Given the description of an element on the screen output the (x, y) to click on. 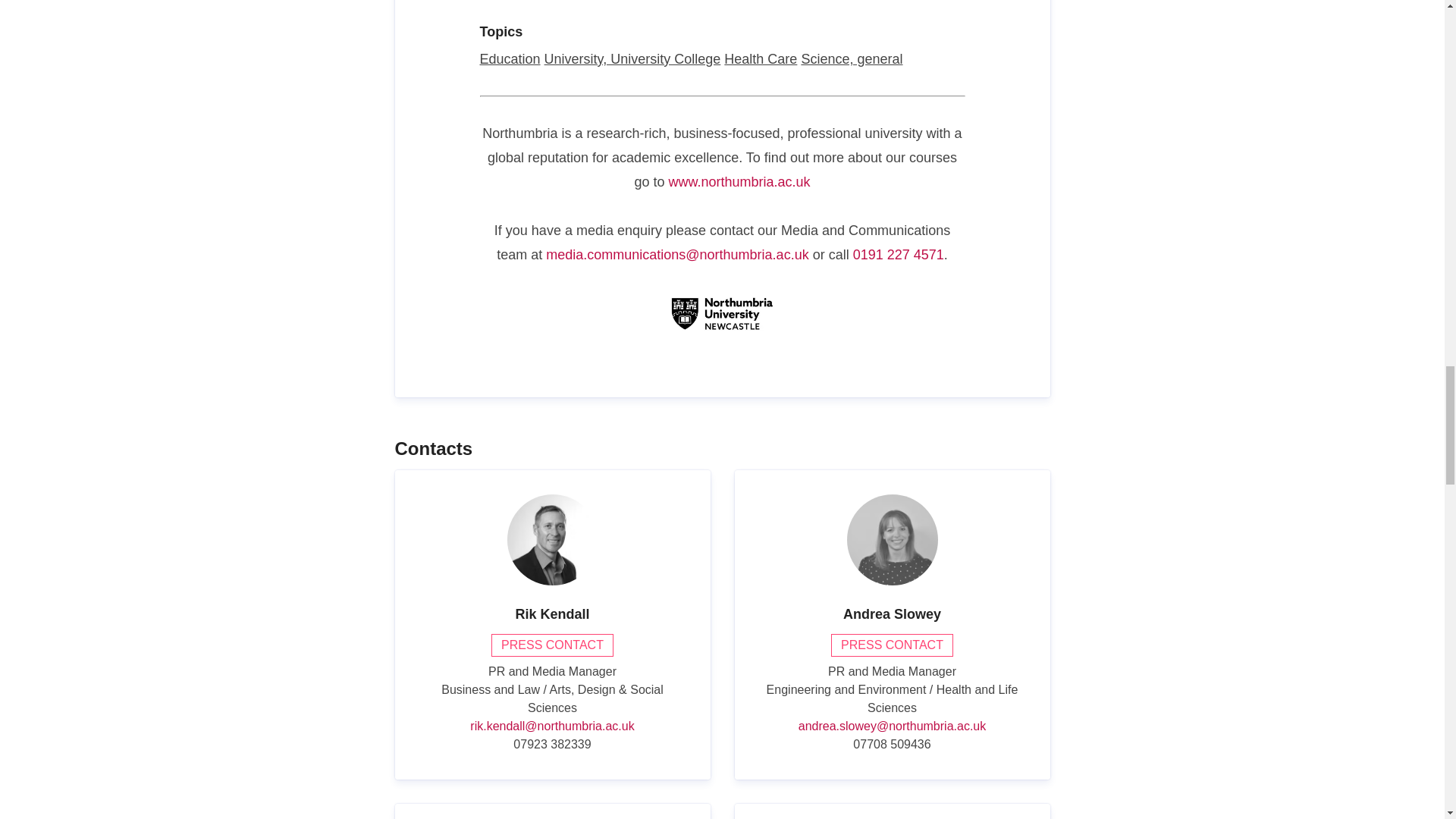
www.northumbria.ac.uk (738, 181)
Health Care (759, 58)
07708 509436 (891, 744)
Education (509, 58)
Science, general (851, 58)
University, University College (632, 58)
07923 382339 (552, 744)
0191 227 4571 (898, 254)
